Given the description of an element on the screen output the (x, y) to click on. 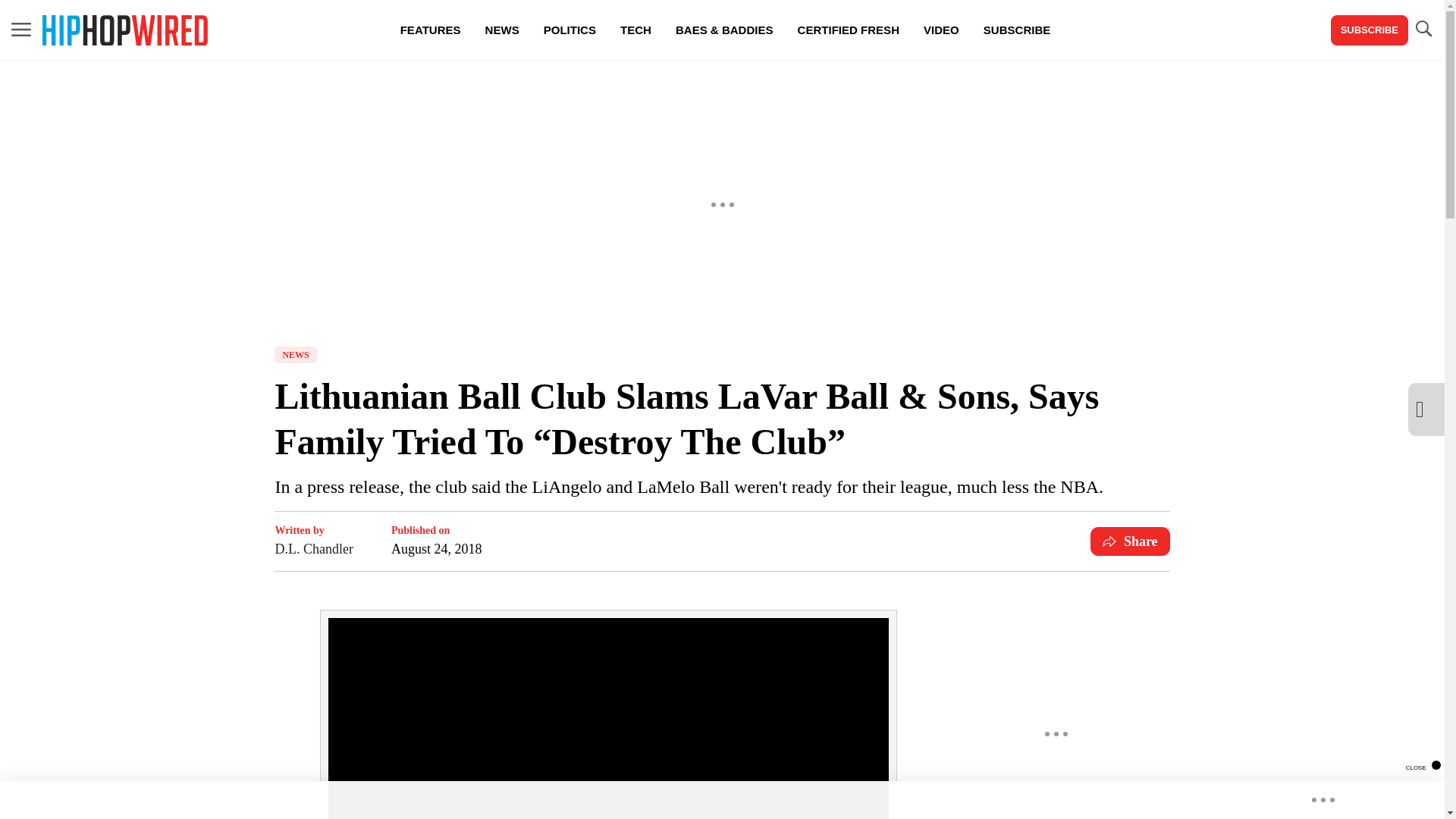
CERTIFIED FRESH (848, 30)
MENU (20, 29)
NEWS (295, 354)
TOGGLE SEARCH (1422, 30)
TECH (635, 30)
POLITICS (569, 30)
FEATURES (430, 30)
Share (1130, 541)
TOGGLE SEARCH (1422, 28)
MENU (20, 30)
